Given the description of an element on the screen output the (x, y) to click on. 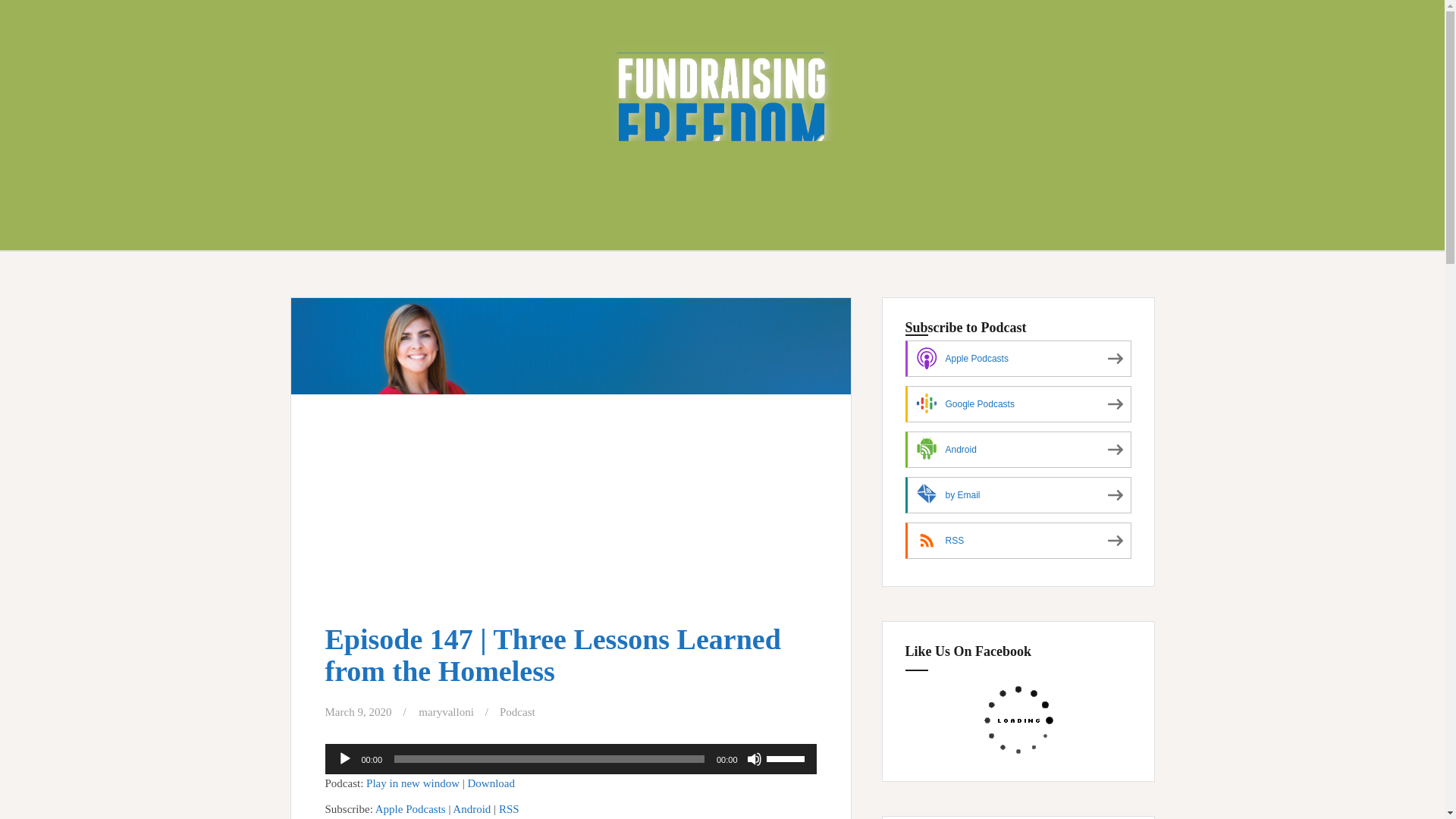
Mute (753, 758)
Subscribe via RSS (1018, 540)
Download (491, 783)
Android (471, 808)
Play in new window (413, 783)
Play (344, 758)
by Email (1018, 494)
Subscribe on Google Podcasts (1018, 403)
Download (491, 783)
Subscribe by Email (1018, 494)
